Given the description of an element on the screen output the (x, y) to click on. 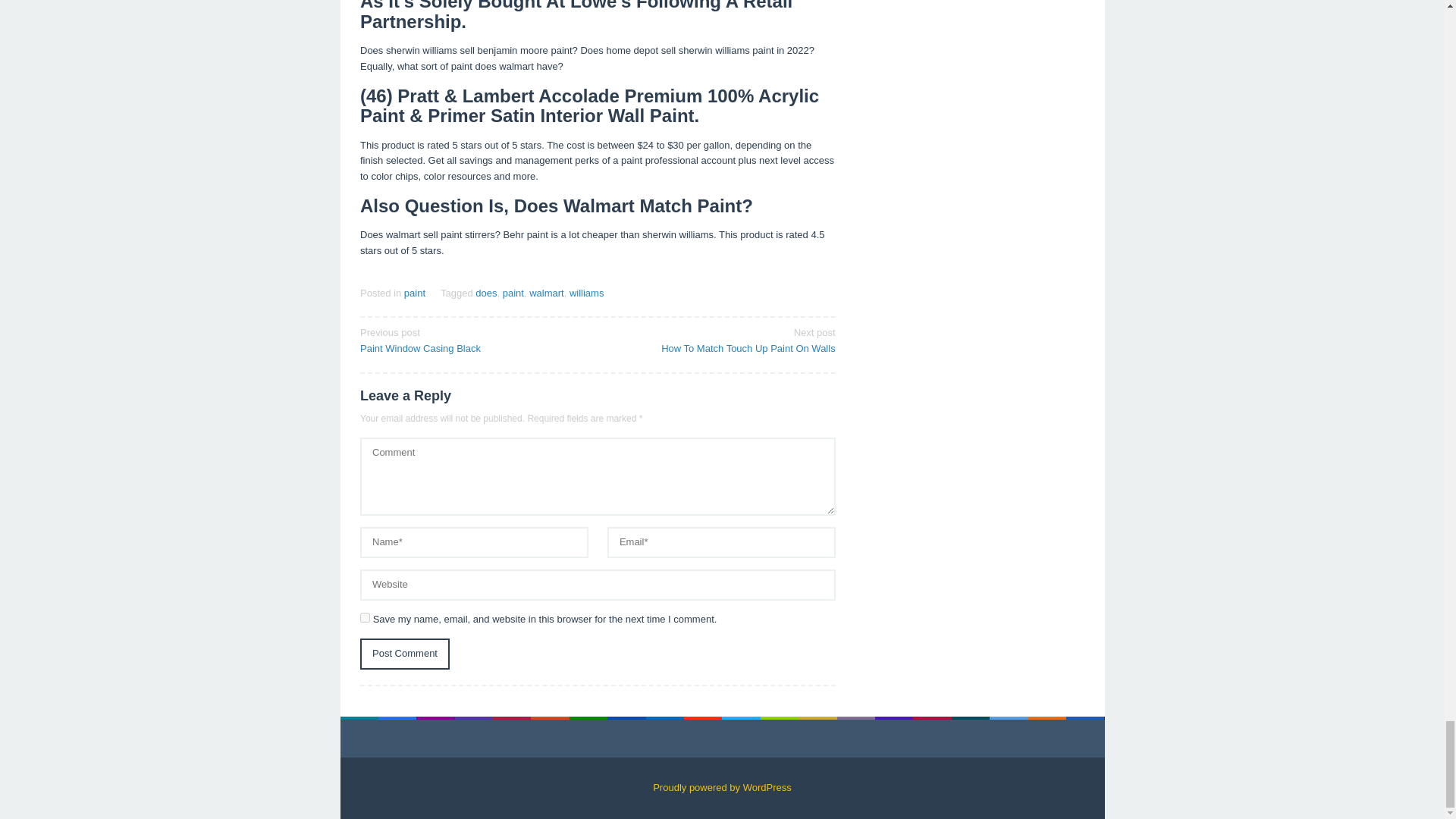
paint (414, 292)
paint (513, 292)
williams (586, 292)
Post Comment (404, 653)
yes (364, 617)
does (486, 292)
walmart (473, 339)
Post Comment (721, 339)
